Given the description of an element on the screen output the (x, y) to click on. 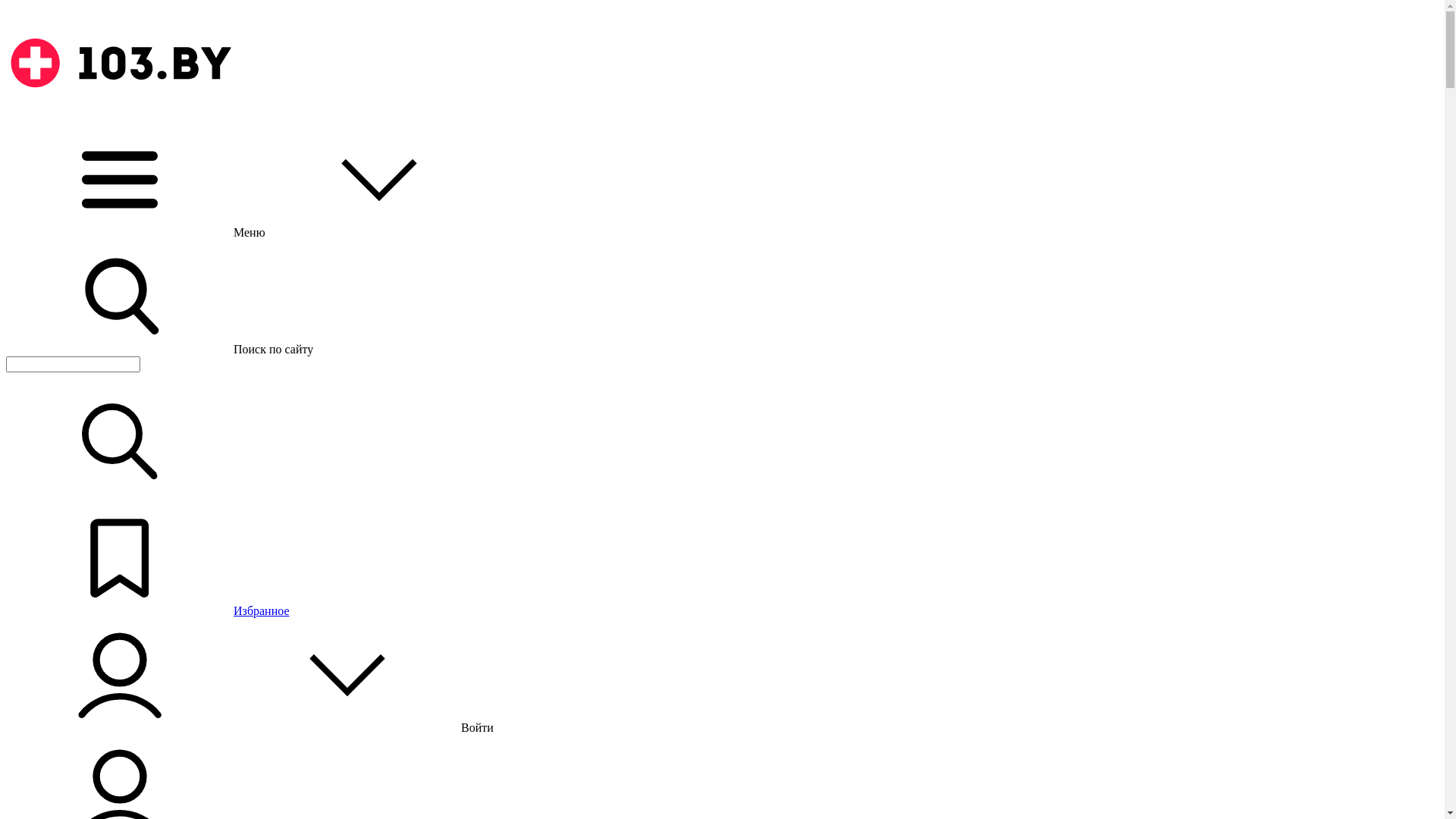
logo Element type: hover (119, 62)
logo Element type: hover (119, 115)
